Given the description of an element on the screen output the (x, y) to click on. 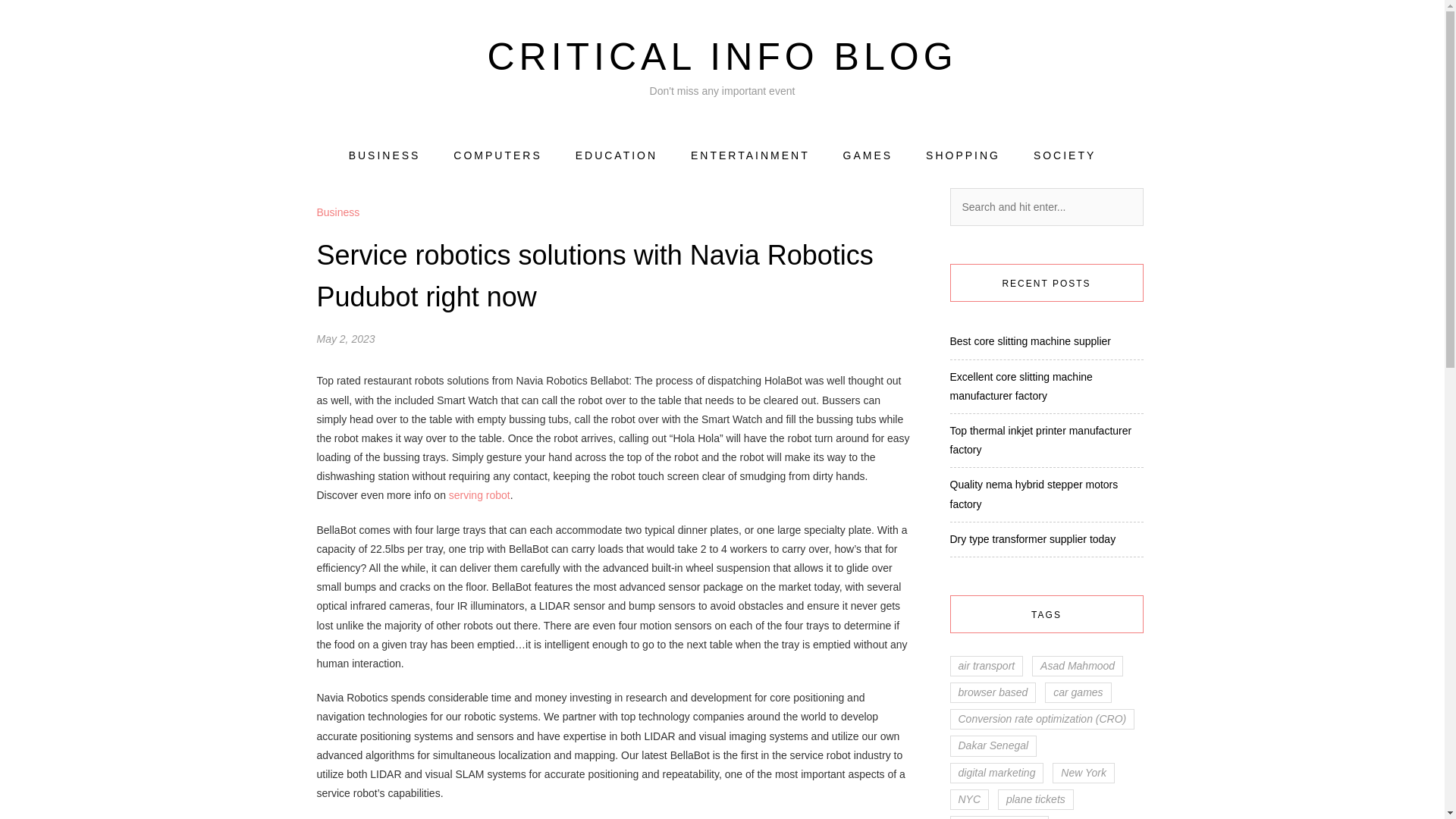
New York (1083, 772)
air transport (986, 666)
GAMES (868, 155)
Top thermal inkjet printer manufacturer factory (1040, 440)
SOCIETY (1064, 155)
digital marketing (996, 772)
Asad Mahmood (1077, 666)
SHOPPING (963, 155)
Business (338, 212)
car games (1077, 692)
EDUCATION (616, 155)
Excellent core slitting machine manufacturer factory (1020, 386)
serving robot (479, 494)
May 2, 2023 (346, 338)
browser based (992, 692)
